Given the description of an element on the screen output the (x, y) to click on. 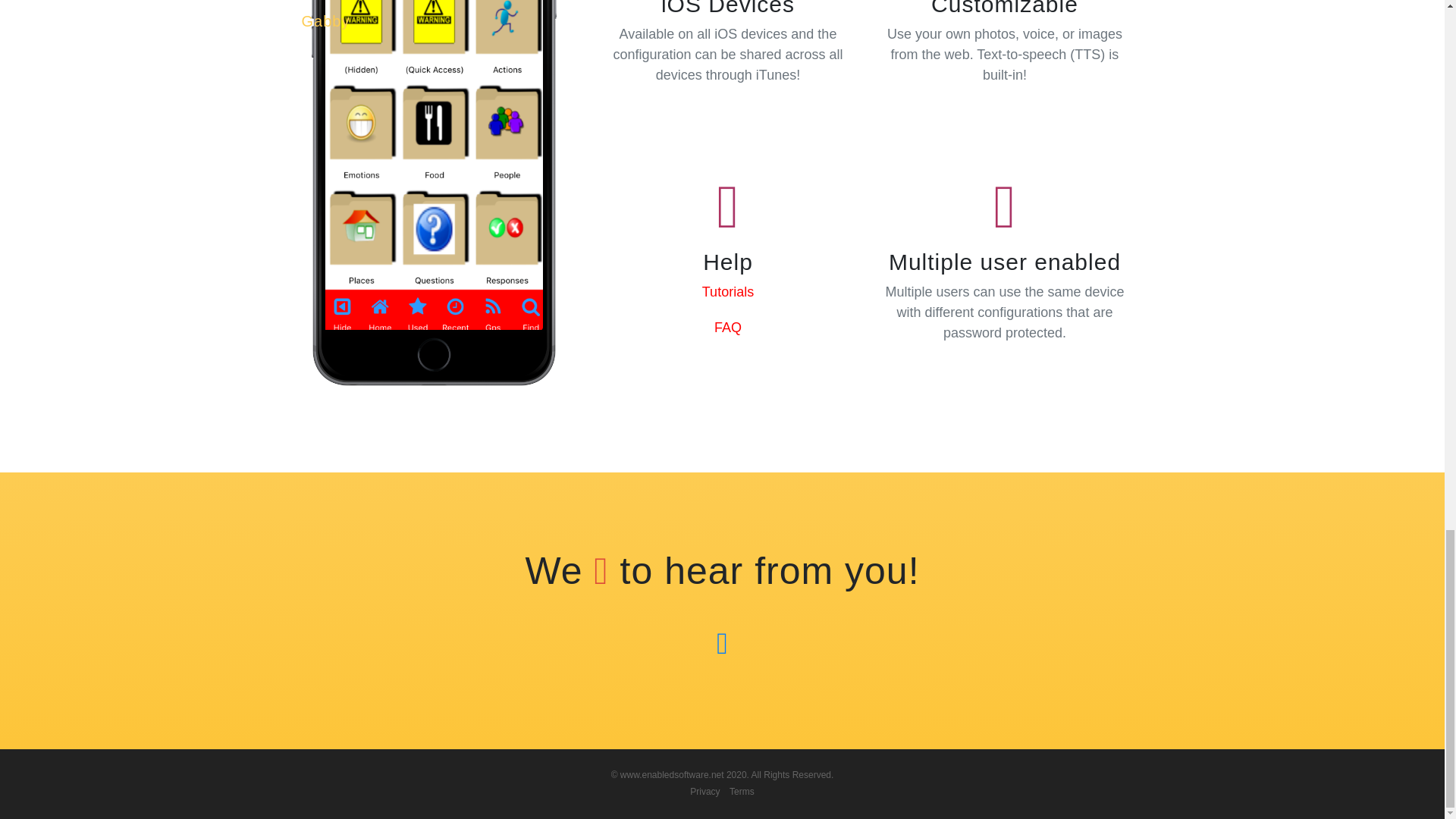
Tutorials (727, 291)
Privacy (704, 791)
Terms (741, 791)
FAQ (727, 327)
